Given the description of an element on the screen output the (x, y) to click on. 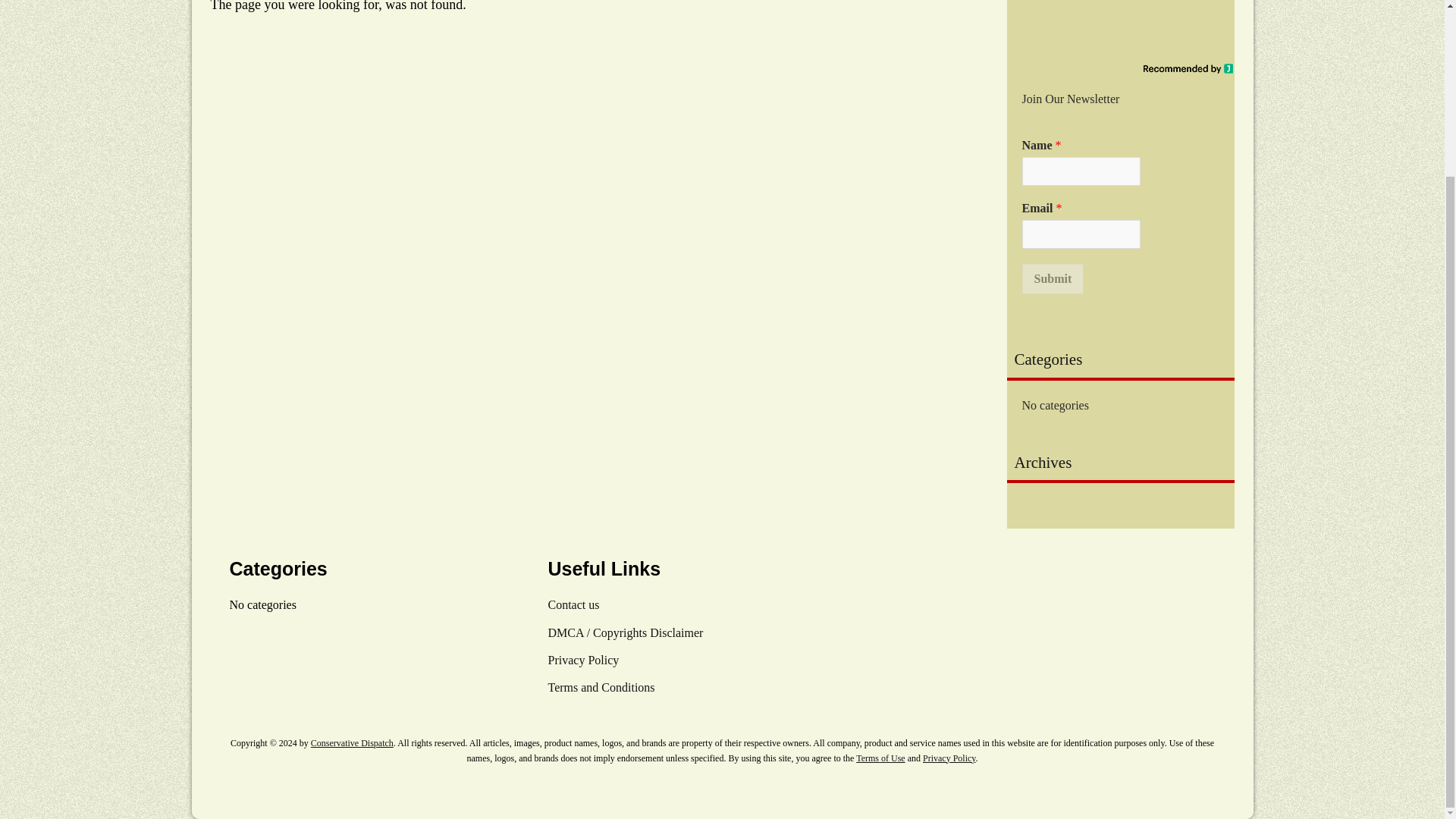
Terms of Use (880, 757)
Terms and Conditions (600, 686)
Submit (1053, 278)
Privacy Policy (582, 659)
Conservative Dispatch (352, 742)
Privacy Policy (949, 757)
Contact us (572, 604)
